Given the description of an element on the screen output the (x, y) to click on. 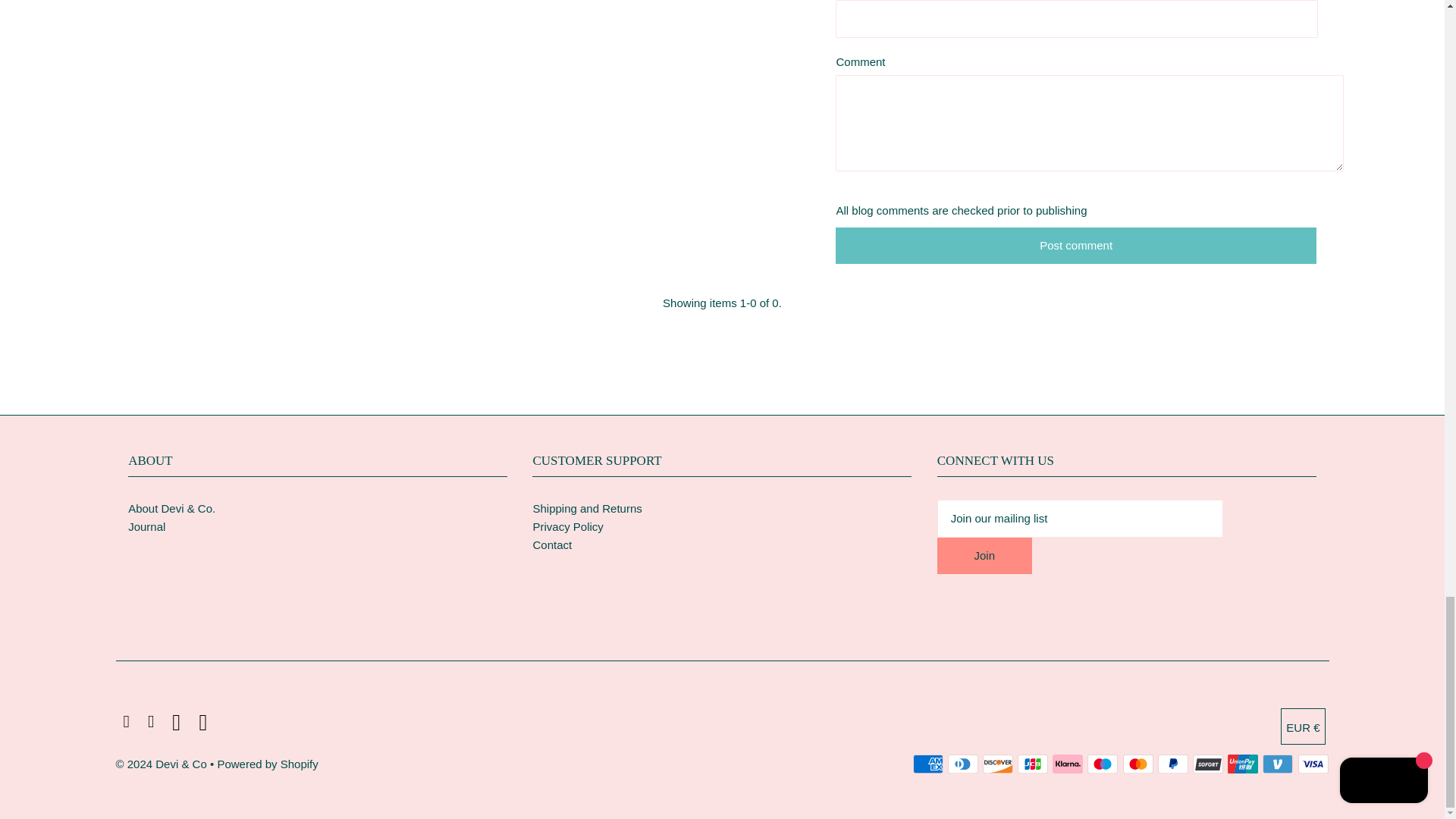
Diners Club (962, 763)
Visa (1312, 763)
Venmo (1277, 763)
PayPal (1172, 763)
Join (984, 555)
Union Pay (1242, 763)
Klarna (1067, 763)
American Express (927, 763)
SOFORT (1207, 763)
Mastercard (1137, 763)
Post comment (1075, 245)
Maestro (1102, 763)
Discover (997, 763)
JCB (1032, 763)
